Given the description of an element on the screen output the (x, y) to click on. 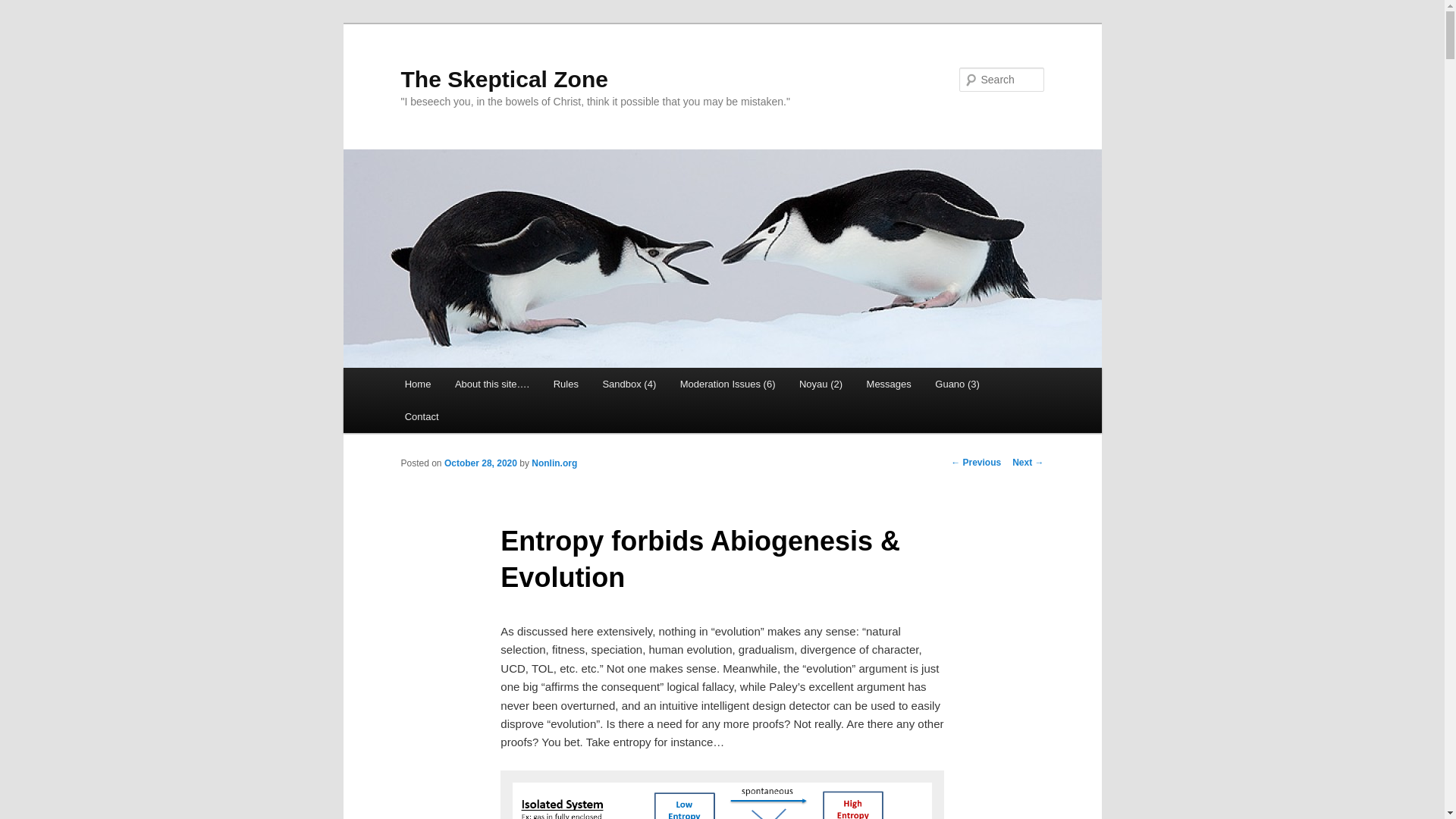
Nonlin.org (553, 462)
Rules (566, 383)
Contact (421, 416)
October 28, 2020 (480, 462)
The Skeptical Zone (503, 78)
Messages (888, 383)
View all posts by Nonlin.org (553, 462)
2:58 pm (480, 462)
Search (24, 8)
Home (417, 383)
